Given the description of an element on the screen output the (x, y) to click on. 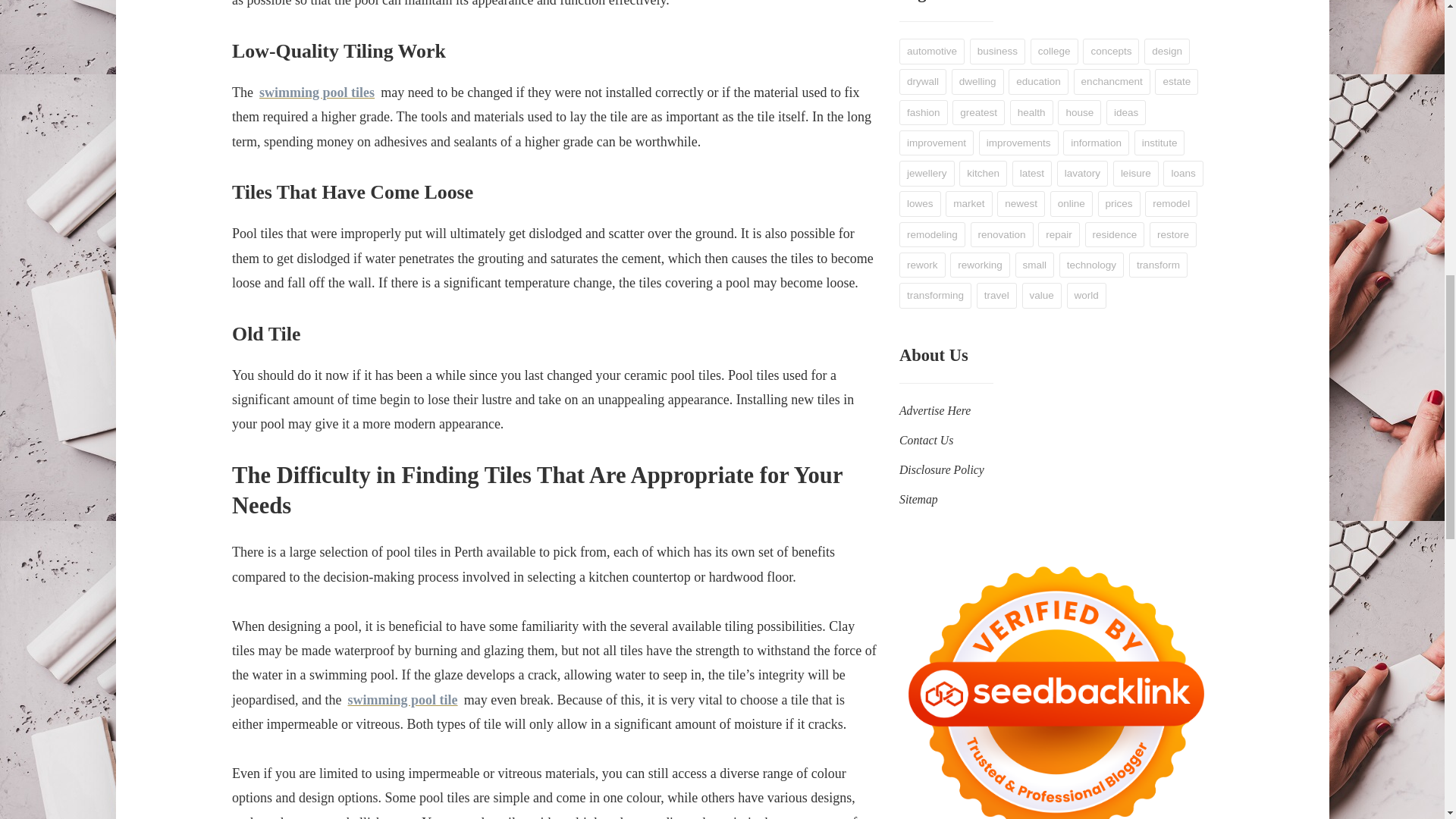
Seedbacklink (1055, 681)
swimming pool tile (402, 699)
swimming pool tiles (316, 91)
